Given the description of an element on the screen output the (x, y) to click on. 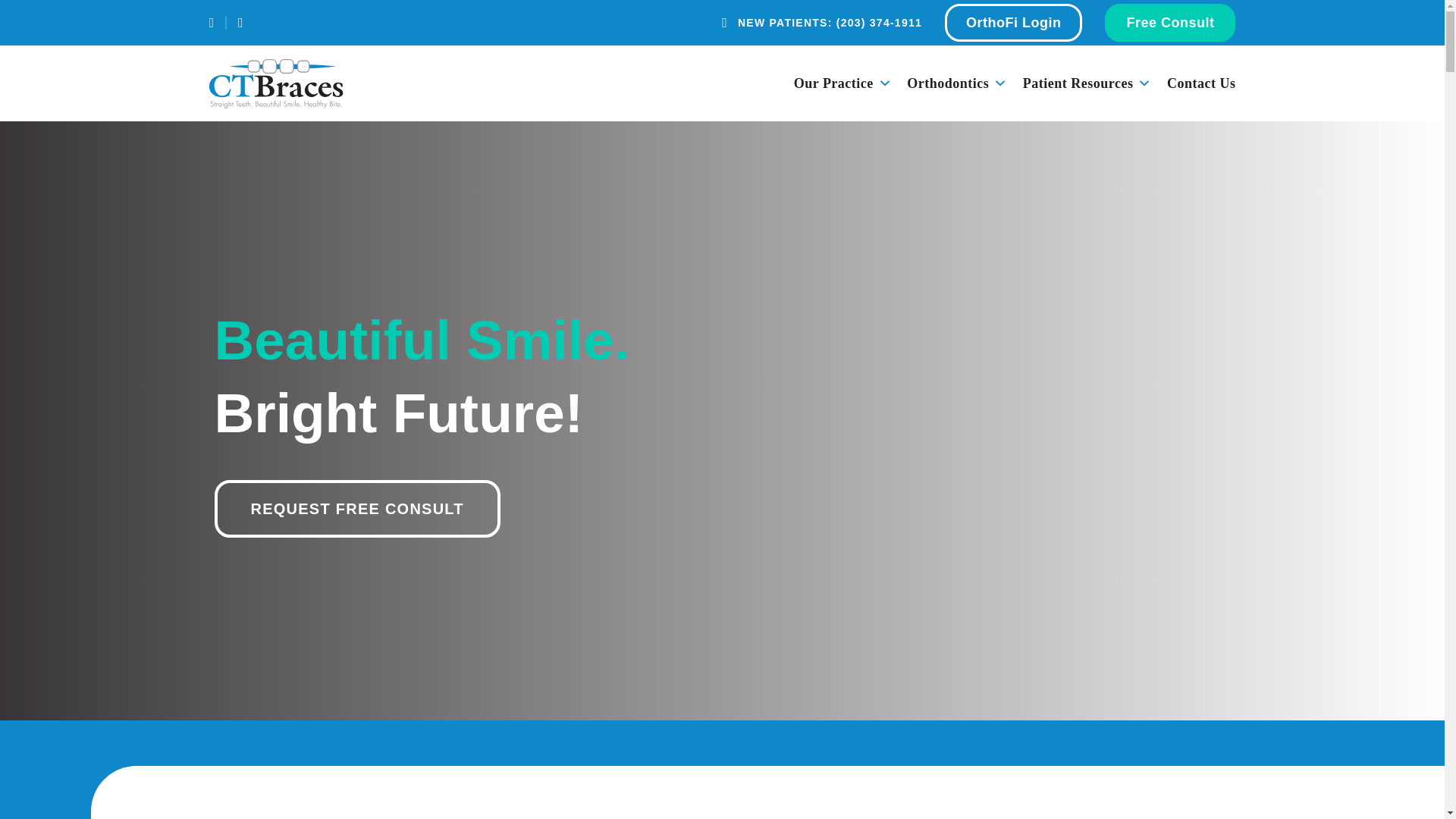
Contact Us (1201, 82)
Free Consult (1169, 22)
OrthoFi Login (1012, 22)
Orthodontics (965, 82)
Patient Resources (1095, 82)
Our Practice (850, 82)
